Given the description of an element on the screen output the (x, y) to click on. 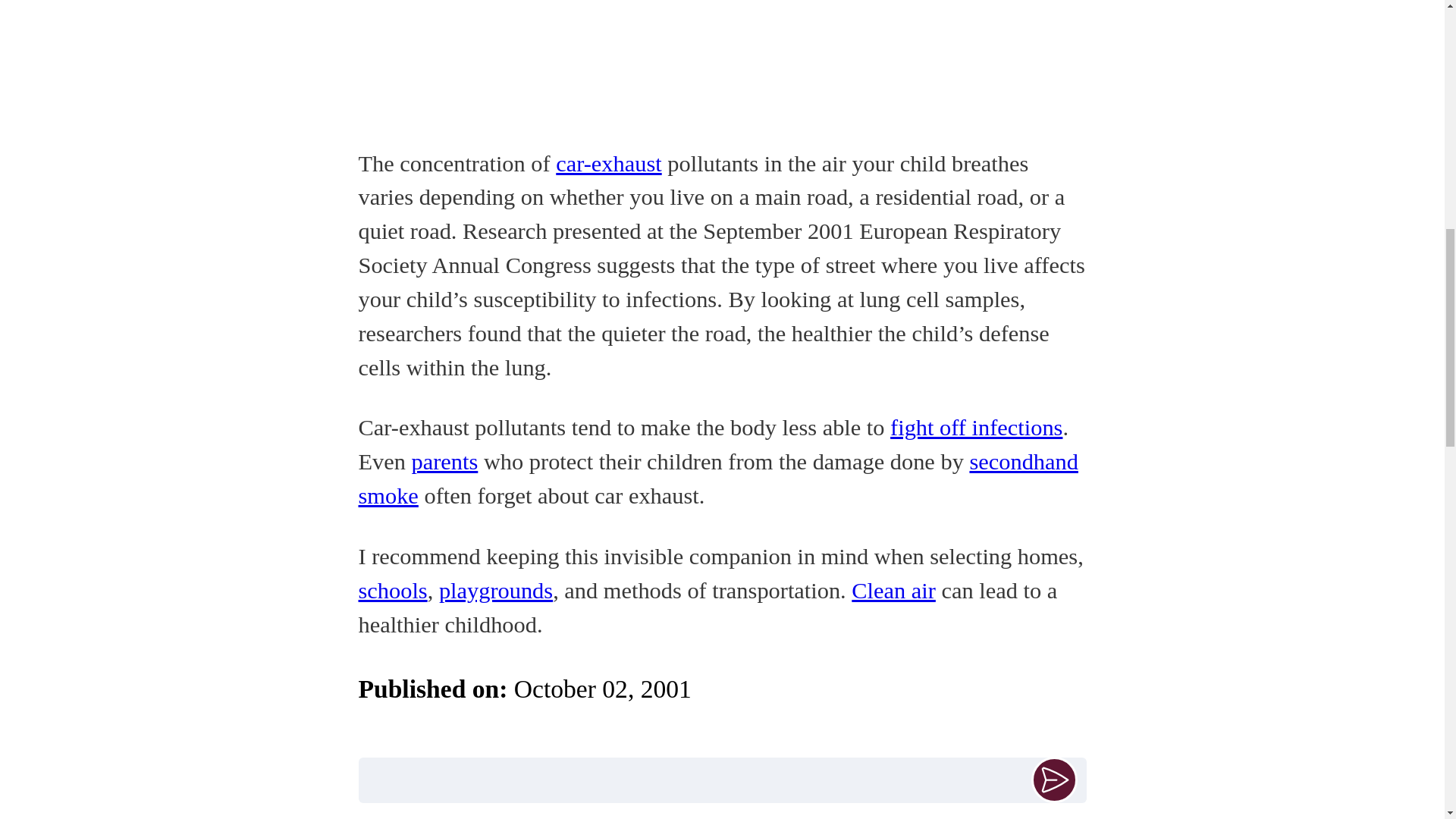
playgrounds (496, 590)
car-exhaust (608, 163)
schools (392, 590)
parents (445, 461)
Clean air (893, 590)
secondhand smoke (717, 478)
fight off infections (975, 427)
